Given the description of an element on the screen output the (x, y) to click on. 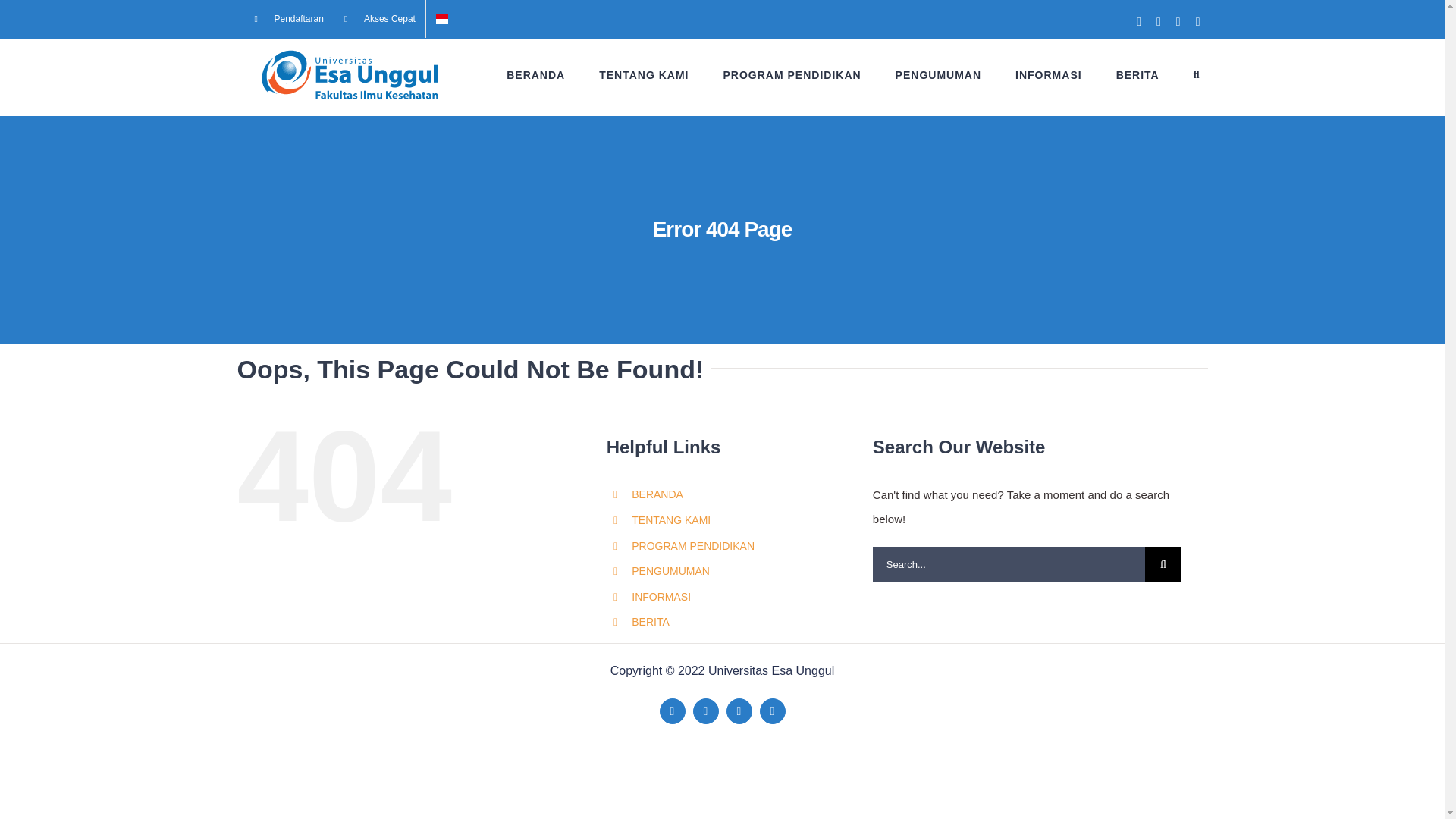
Instagram (1197, 21)
Instagram (773, 710)
PROGRAM PENDIDIKAN (791, 74)
YouTube (739, 710)
Pendaftaran (288, 18)
YouTube (1178, 21)
TENTANG KAMI (643, 74)
Facebook (672, 710)
Twitter (706, 710)
Twitter (1158, 21)
YouTube (1178, 21)
Twitter (1158, 21)
Facebook (1139, 21)
Akses Cepat (379, 18)
